Given the description of an element on the screen output the (x, y) to click on. 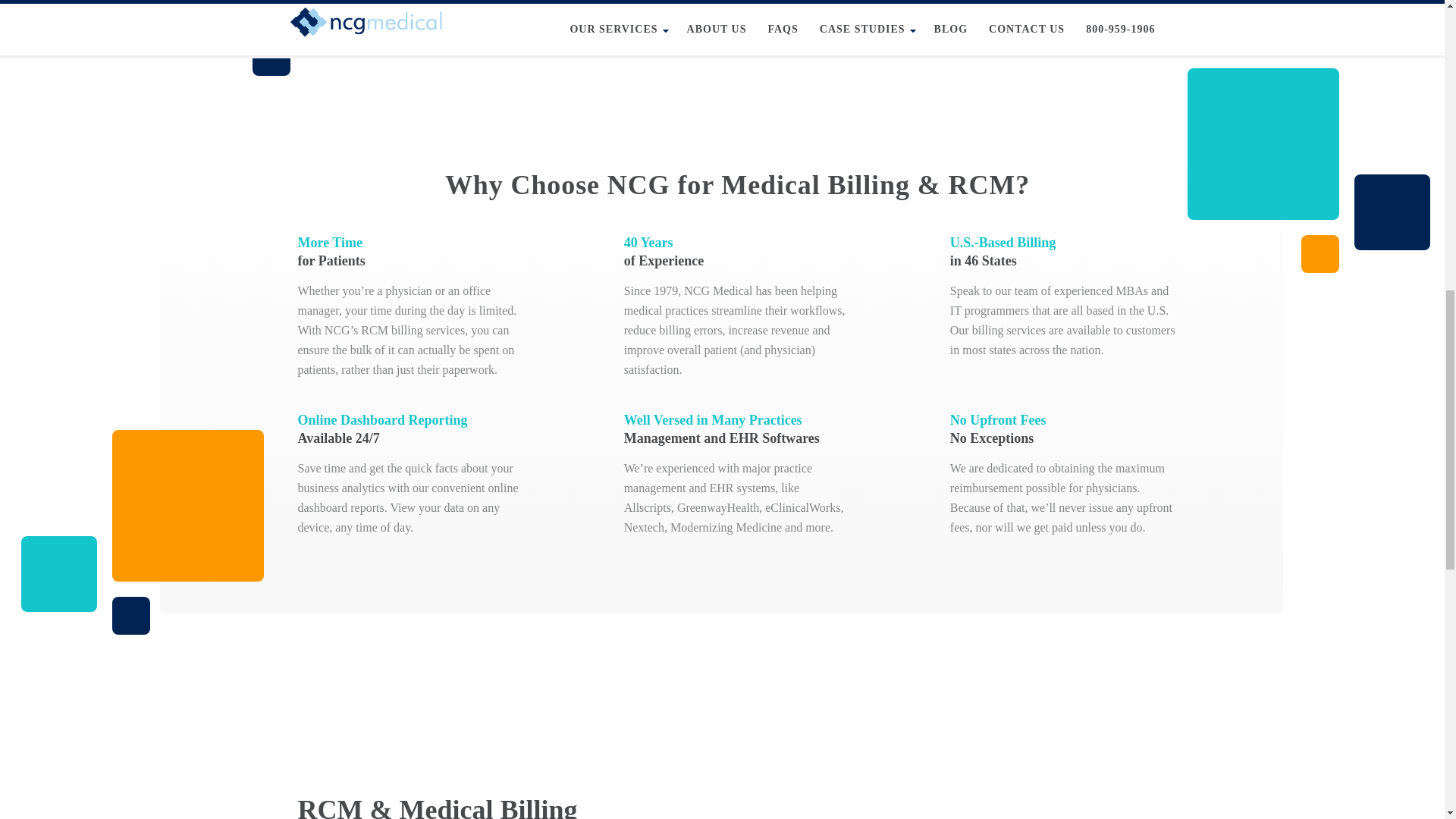
Contact a Billing Expert (712, 24)
